Given the description of an element on the screen output the (x, y) to click on. 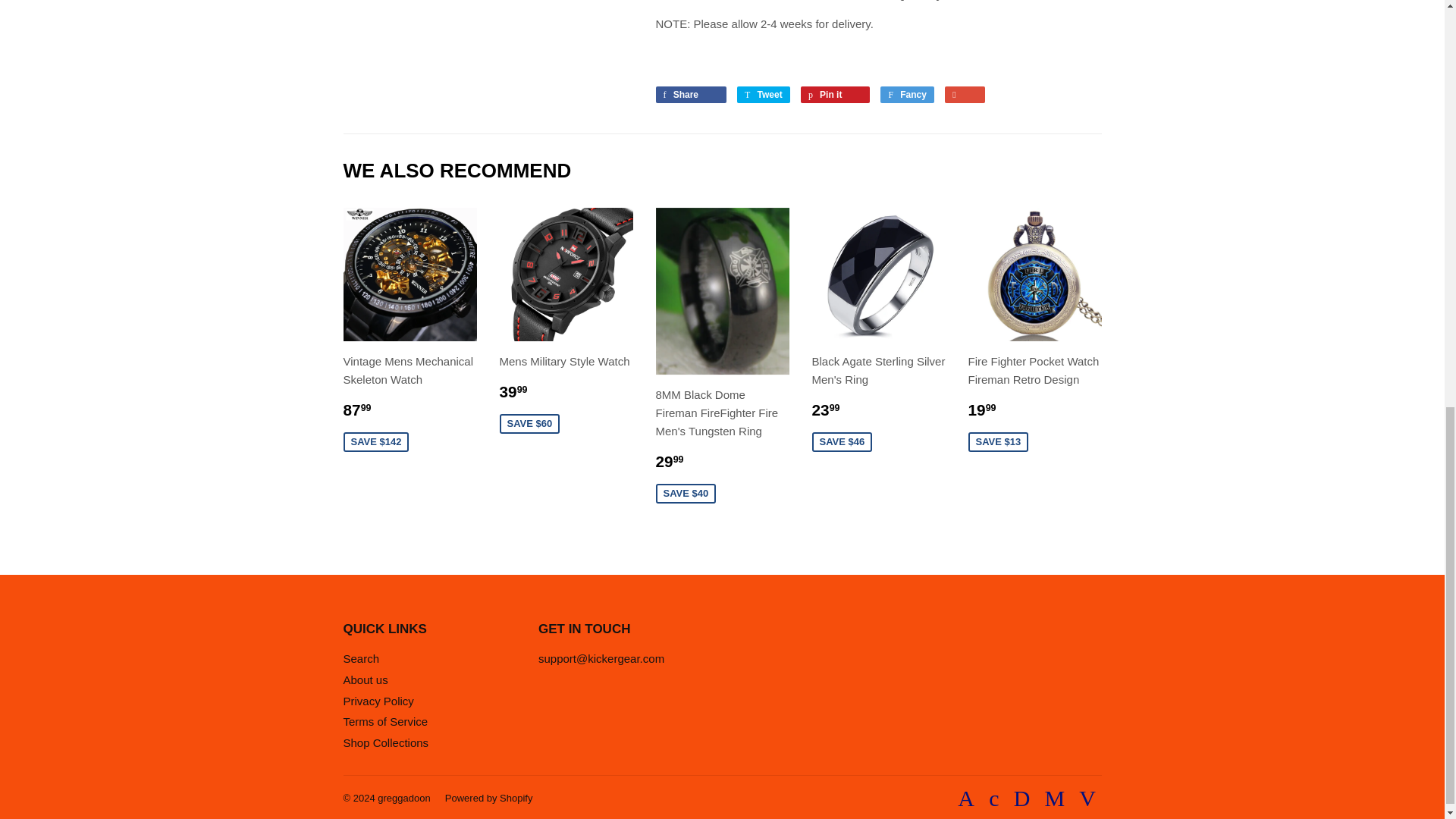
Search (360, 658)
Terms of Service (385, 721)
Pin it (834, 94)
Share (690, 94)
Privacy Policy (377, 700)
About us (364, 679)
Shop Collections (385, 742)
Powered by Shopify (488, 797)
Tweet (763, 94)
greggadoon (403, 797)
